Given the description of an element on the screen output the (x, y) to click on. 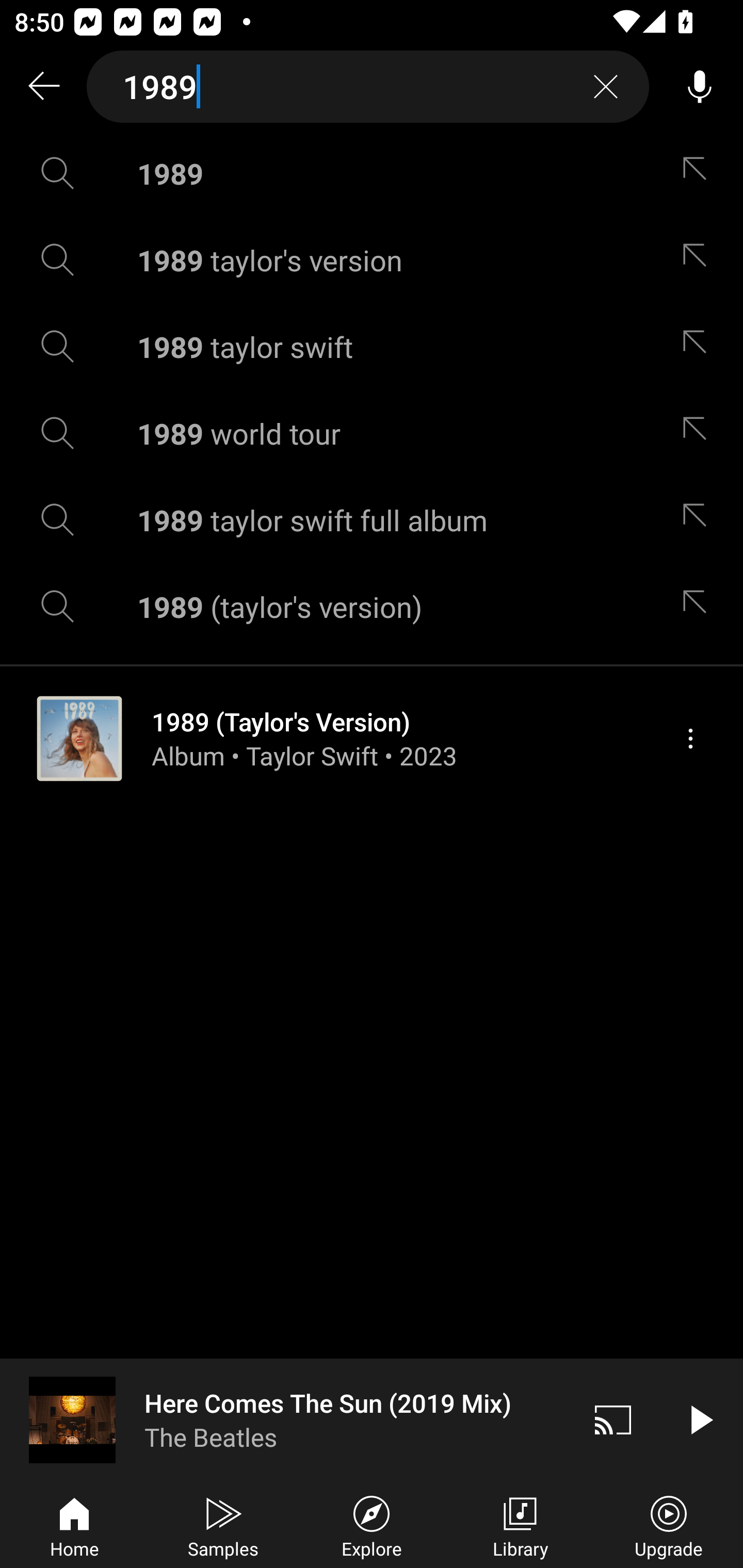
Search back (43, 86)
1989 (367, 86)
Clear search (605, 86)
Voice search (699, 86)
1989 Edit suggestion 1989 (371, 173)
Edit suggestion 1989 (699, 173)
Edit suggestion 1989 taylor's version (699, 259)
Edit suggestion 1989 taylor swift (699, 346)
1989 world tour Edit suggestion 1989 world tour (371, 433)
Edit suggestion 1989 world tour (699, 433)
Edit suggestion 1989 taylor swift full album (699, 519)
Edit suggestion 1989 (taylor's version) (699, 605)
Menu (690, 738)
Here Comes The Sun (2019 Mix) The Beatles (284, 1419)
Cast. Disconnected (612, 1419)
Play video (699, 1419)
Home (74, 1524)
Samples (222, 1524)
Explore (371, 1524)
Library (519, 1524)
Upgrade (668, 1524)
